Given the description of an element on the screen output the (x, y) to click on. 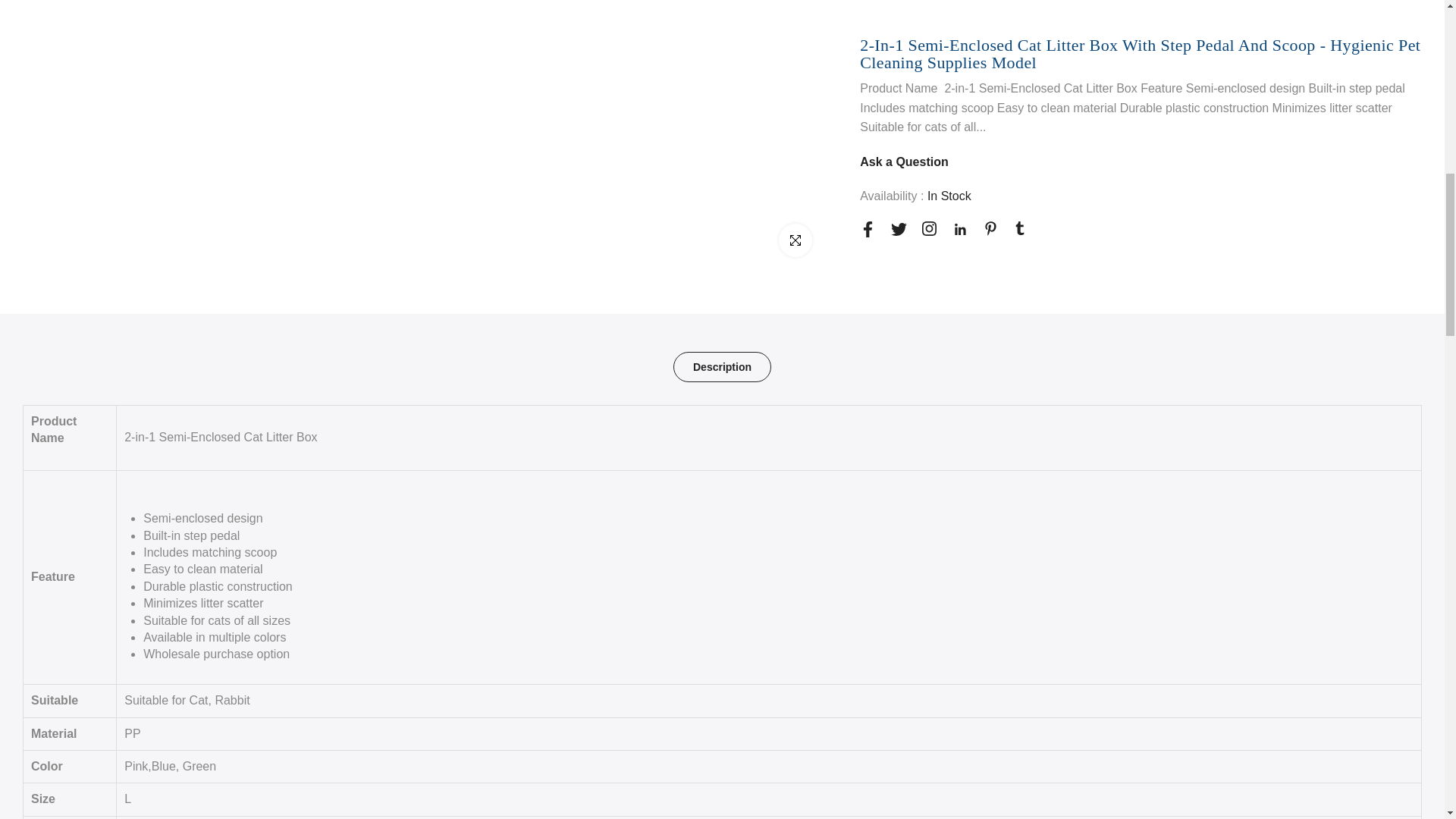
Description (721, 367)
